Given the description of an element on the screen output the (x, y) to click on. 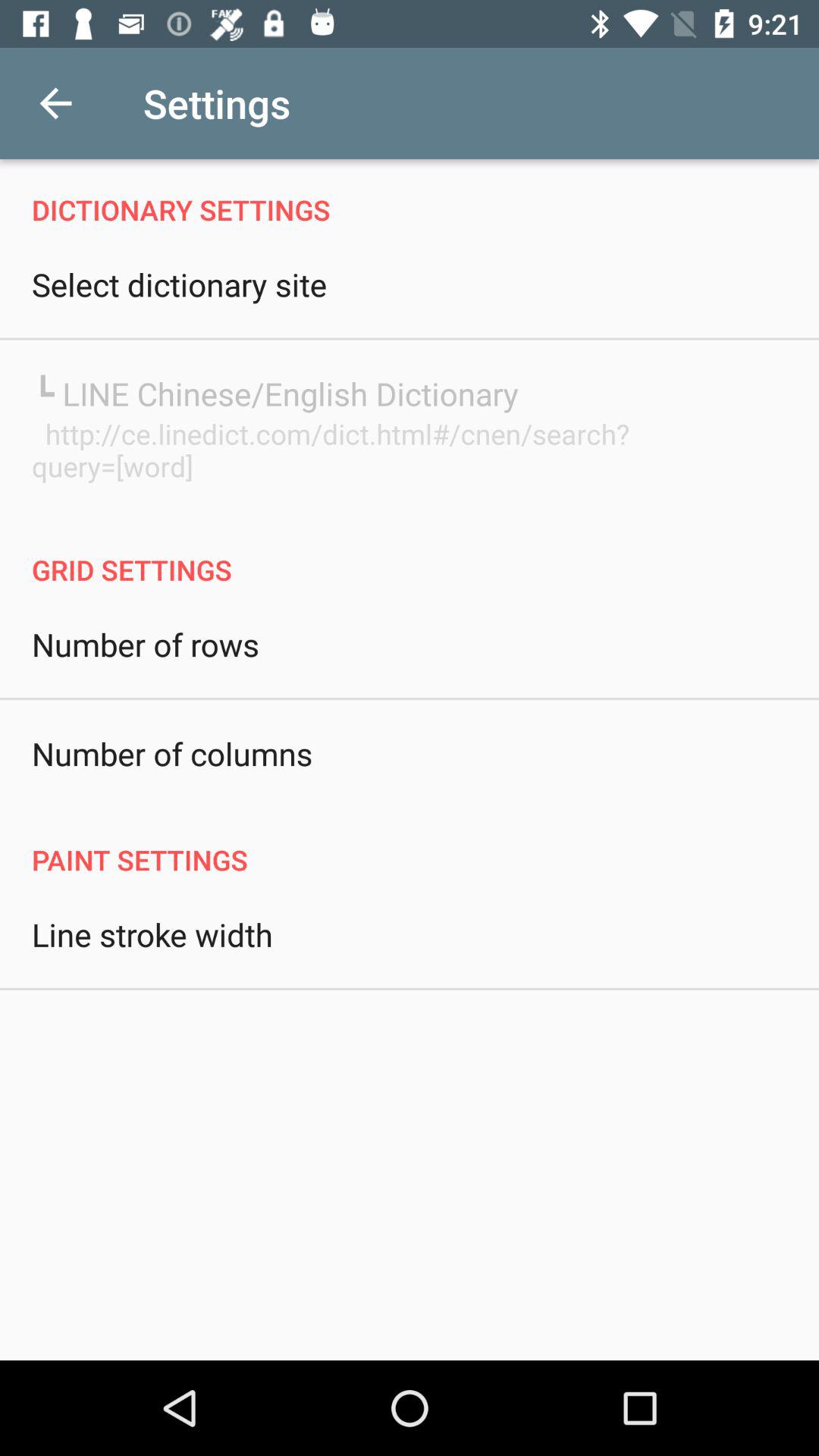
launch the icon next to settings (55, 103)
